Given the description of an element on the screen output the (x, y) to click on. 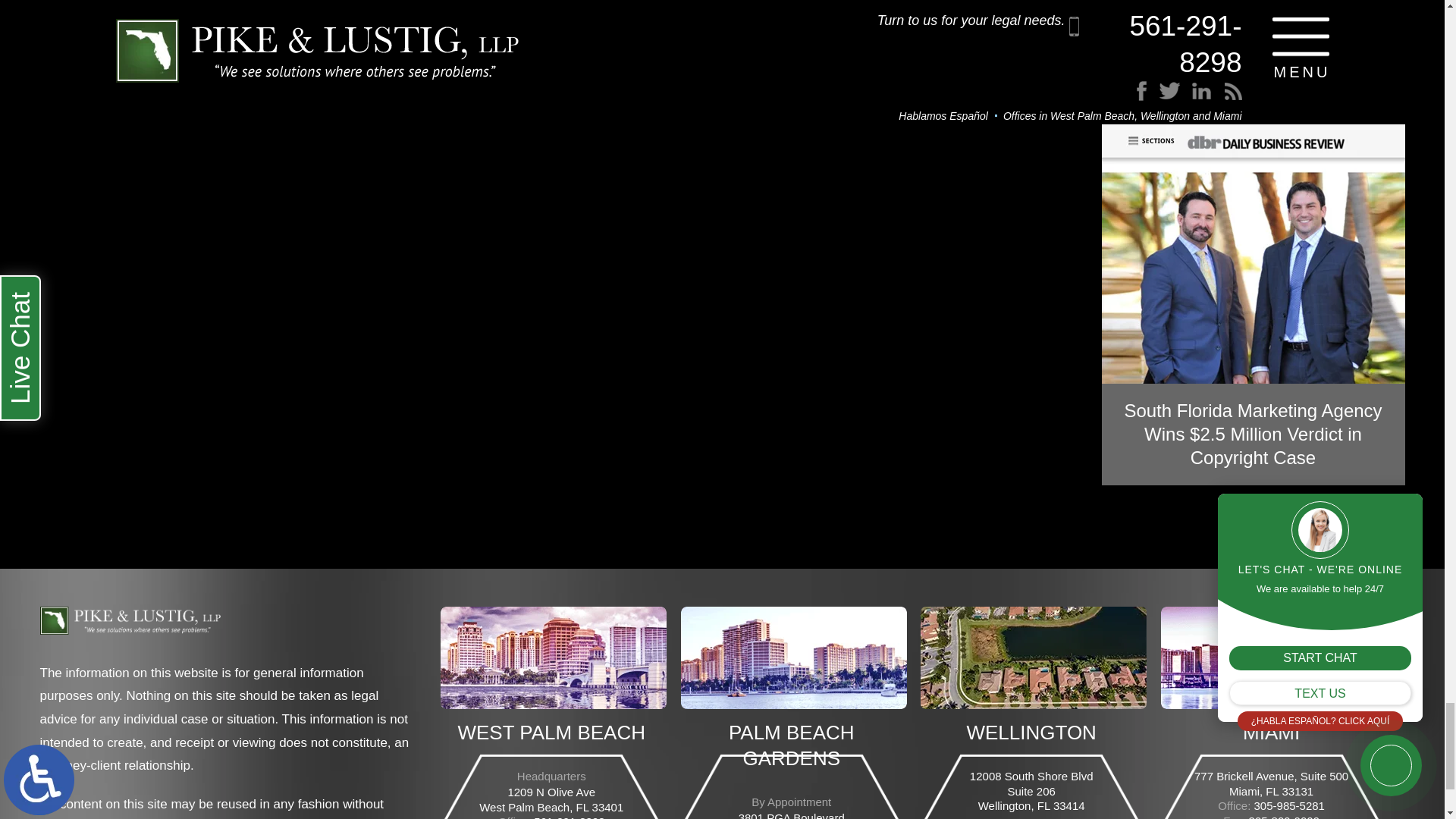
West Palm Beach Business Attorney (129, 626)
West Palm Beach (553, 657)
Palm Beach Gardens (794, 657)
Miami (1273, 657)
Wellington (1033, 657)
